Given the description of an element on the screen output the (x, y) to click on. 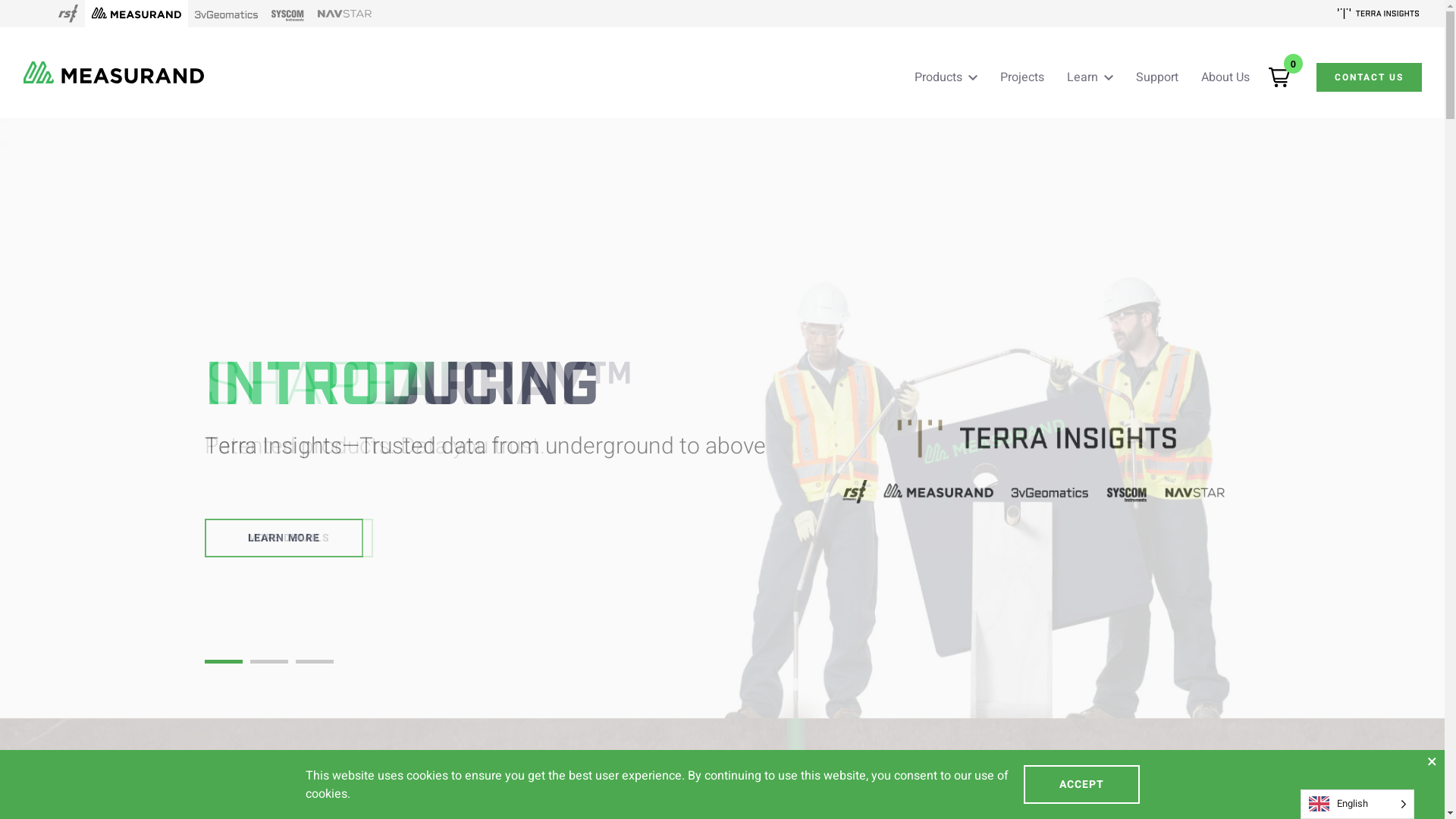
Products Element type: text (945, 77)
ACCEPT Element type: text (1081, 784)
Projects Element type: text (1022, 77)
Support Element type: text (1156, 77)
About Us Element type: text (1225, 77)
NavStar Element type: hover (344, 13)
Measurand Element type: text (112, 72)
<span>Introducing</span> Element type: hover (1032, 456)
LEARN MORE Element type: text (283, 537)
Terra Insights Element type: hover (1377, 13)
CONTACT US Element type: text (1368, 76)
0 Element type: text (1278, 76)
2 Element type: text (269, 661)
3 Element type: text (314, 661)
1 Element type: text (223, 661)
SYSCOM Instruments Element type: hover (287, 13)
RST Instruments Element type: hover (67, 13)
3vGeomatics Element type: hover (226, 13)
Learn Element type: text (1089, 77)
Measurand Element type: hover (136, 13)
